Given the description of an element on the screen output the (x, y) to click on. 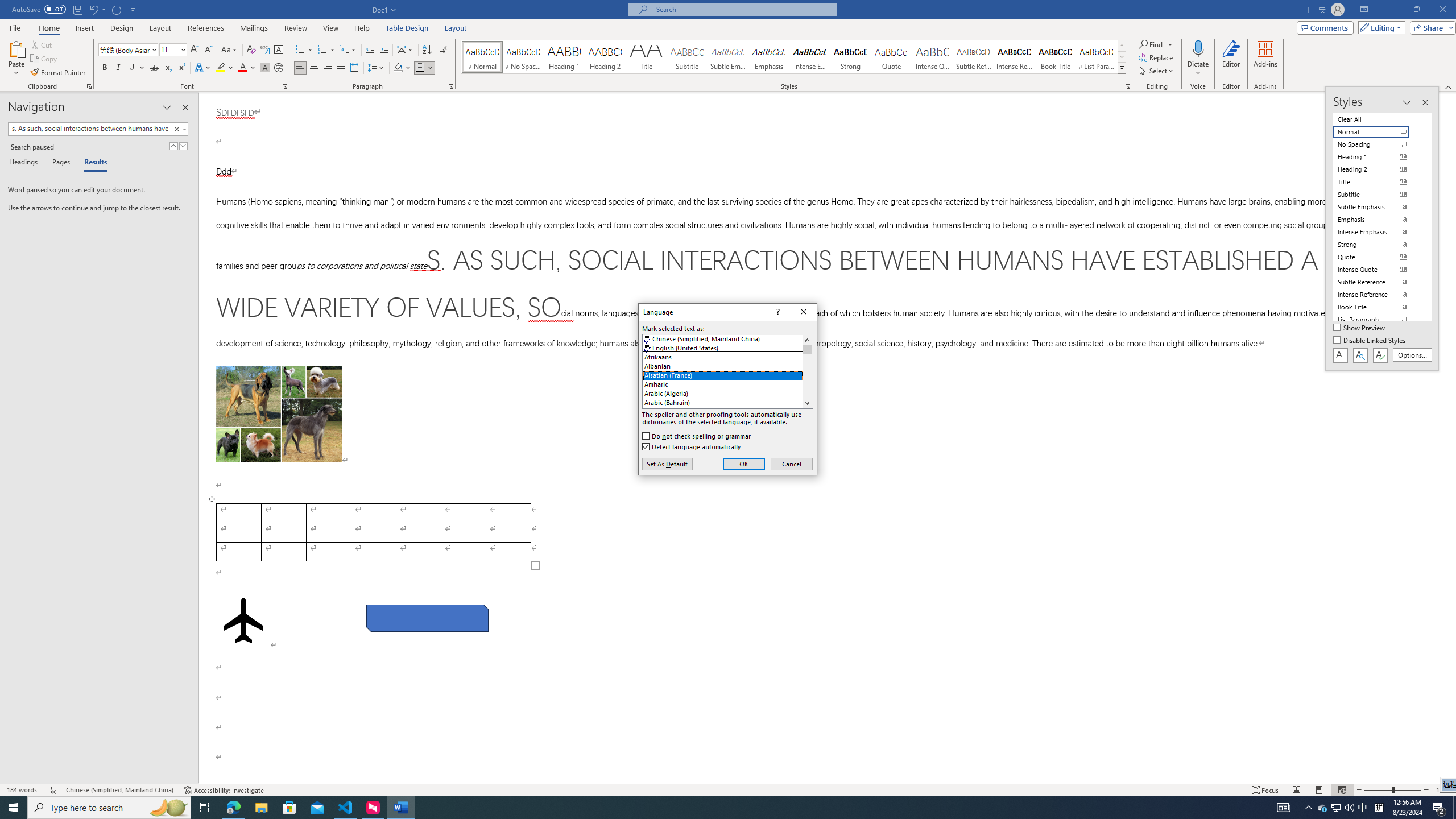
System (6, 6)
Cancel (791, 463)
Task Pane Options (167, 107)
Underline (136, 67)
Start (13, 807)
Emphasis (768, 56)
Bold (104, 67)
User Promoted Notification Area (1336, 807)
Save (77, 9)
Results (91, 162)
Strong (849, 56)
Insert (83, 28)
